Given the description of an element on the screen output the (x, y) to click on. 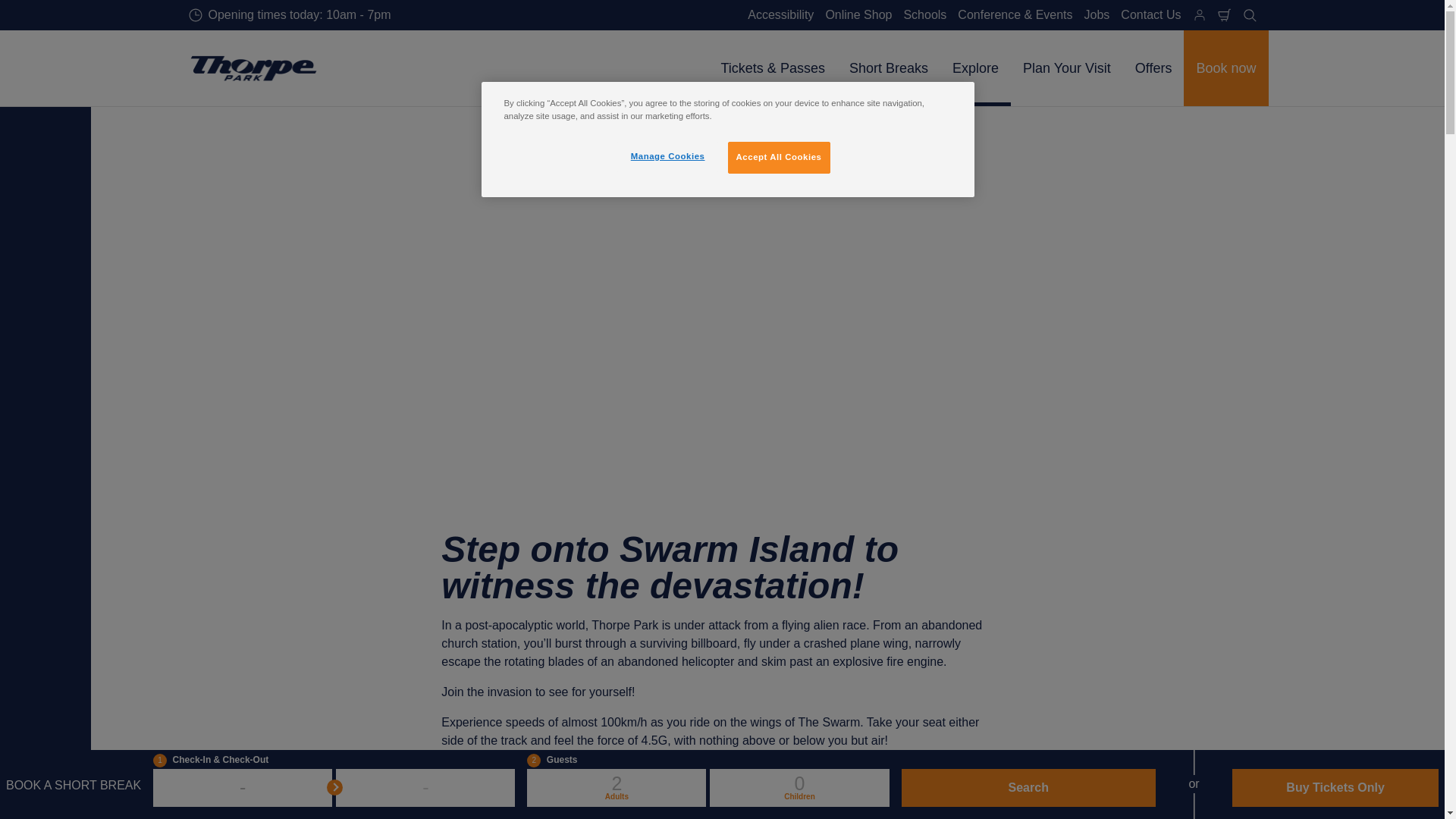
Search (1249, 14)
Shopping cart (1223, 14)
Accessibility (780, 14)
Contact Us (1150, 14)
Check out (1223, 14)
Online Shop (858, 14)
Jobs (1096, 14)
Opening times today: 10am - 7pm (289, 14)
Short Breaks (888, 68)
Schools (924, 14)
